Given the description of an element on the screen output the (x, y) to click on. 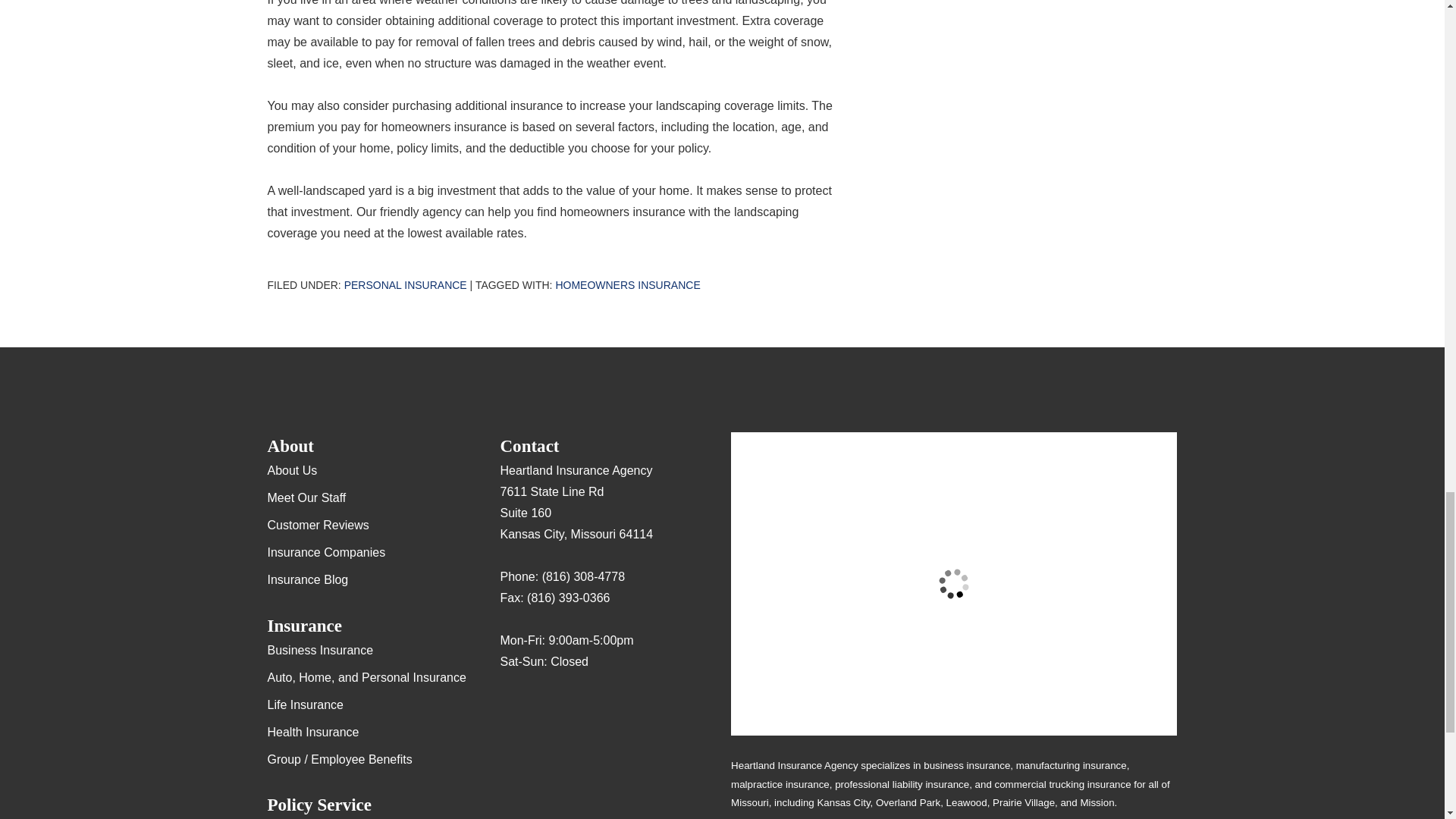
Facebook (571, 706)
Personal Insurance (405, 285)
Homeowners Insurance (627, 285)
LinkedIn (600, 706)
Yelp (541, 706)
Google Maps (511, 706)
